Given the description of an element on the screen output the (x, y) to click on. 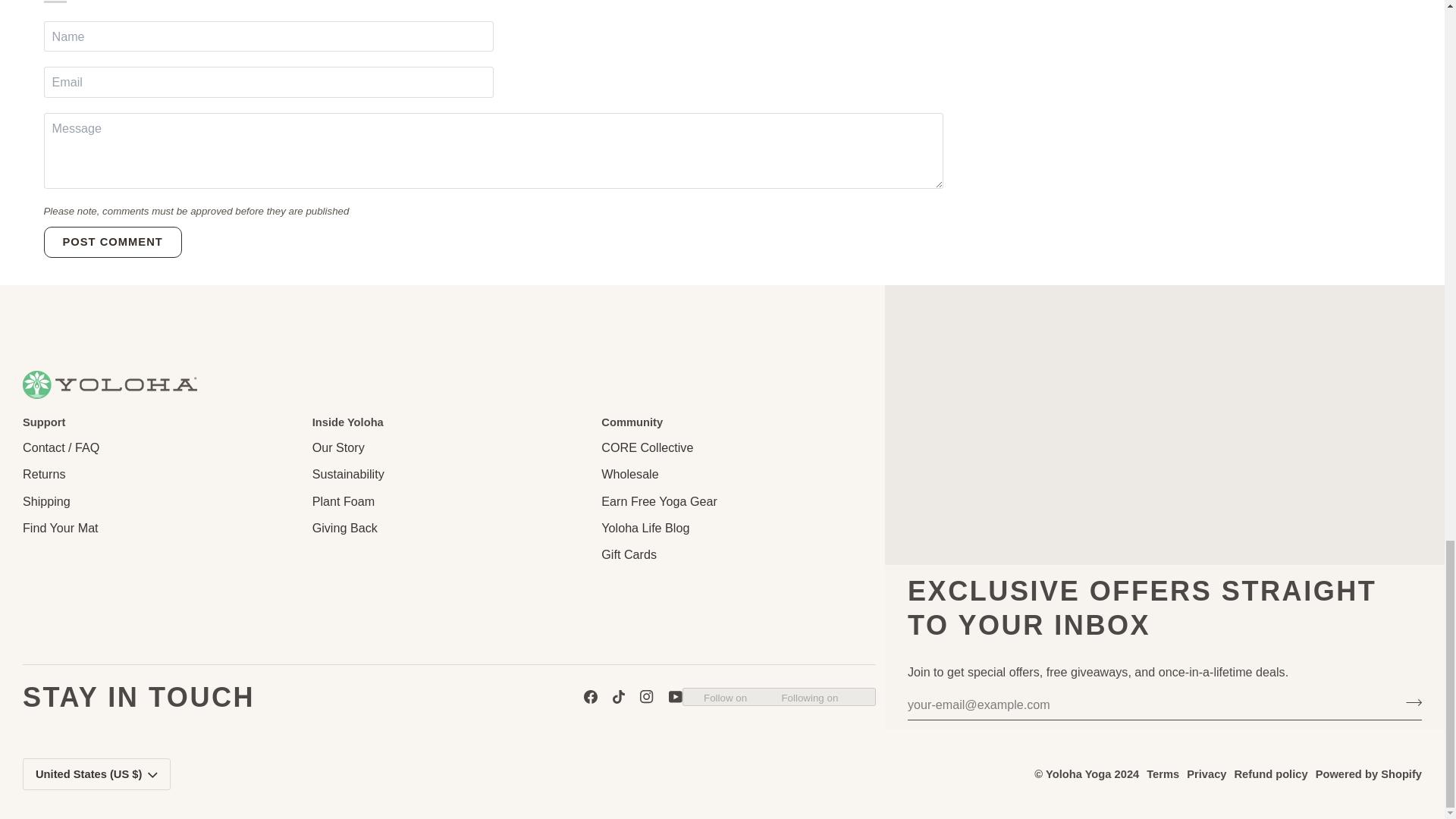
Tiktok (618, 696)
YouTube (675, 696)
Facebook (589, 696)
Instagram (646, 696)
